Given the description of an element on the screen output the (x, y) to click on. 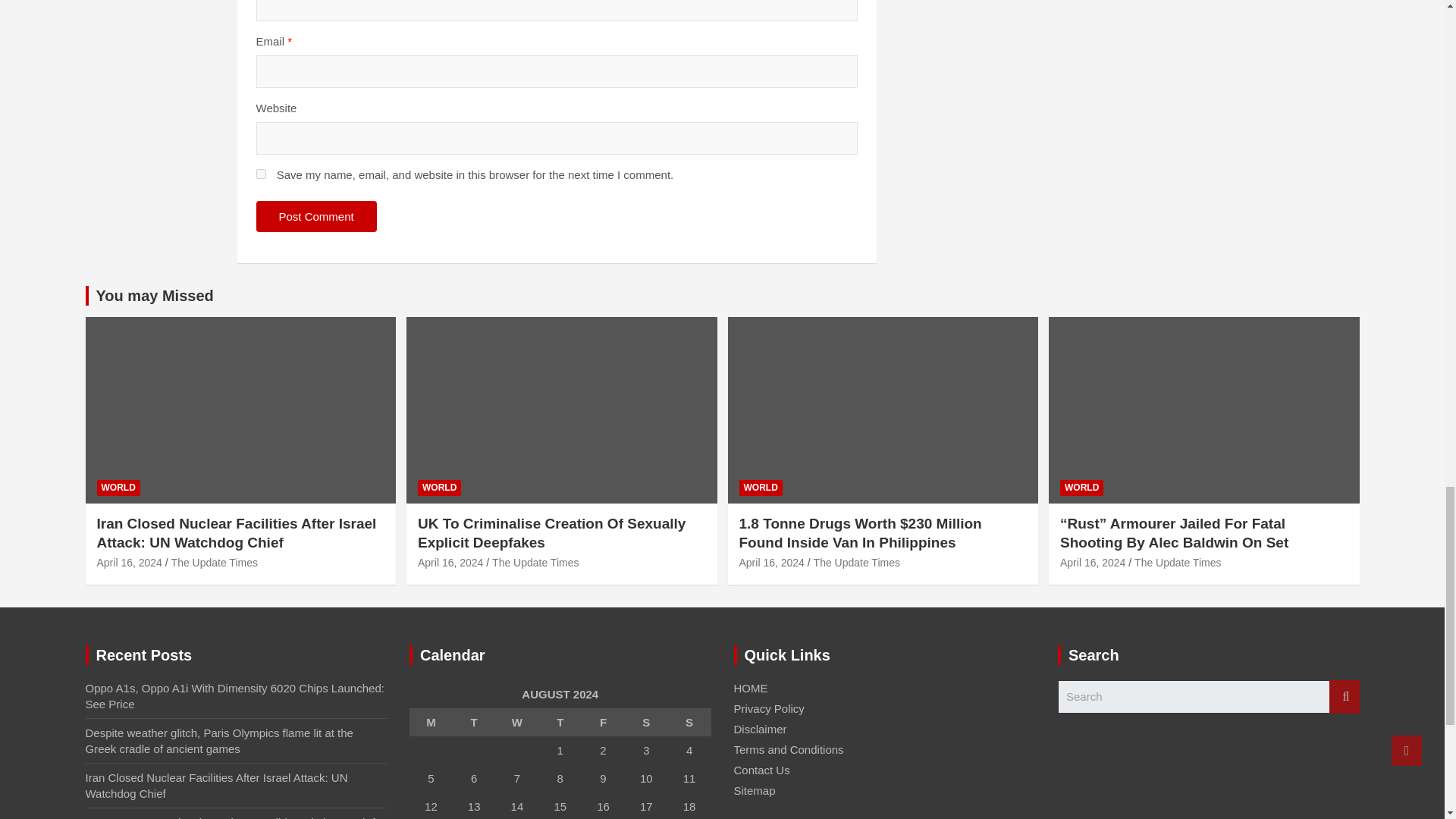
Post Comment (316, 215)
yes (261, 173)
Tuesday (474, 722)
Monday (430, 722)
UK To Criminalise Creation Of Sexually Explicit Deepfakes (450, 562)
Friday (602, 722)
Sunday (689, 722)
Thursday (559, 722)
Wednesday (517, 722)
